Given the description of an element on the screen output the (x, y) to click on. 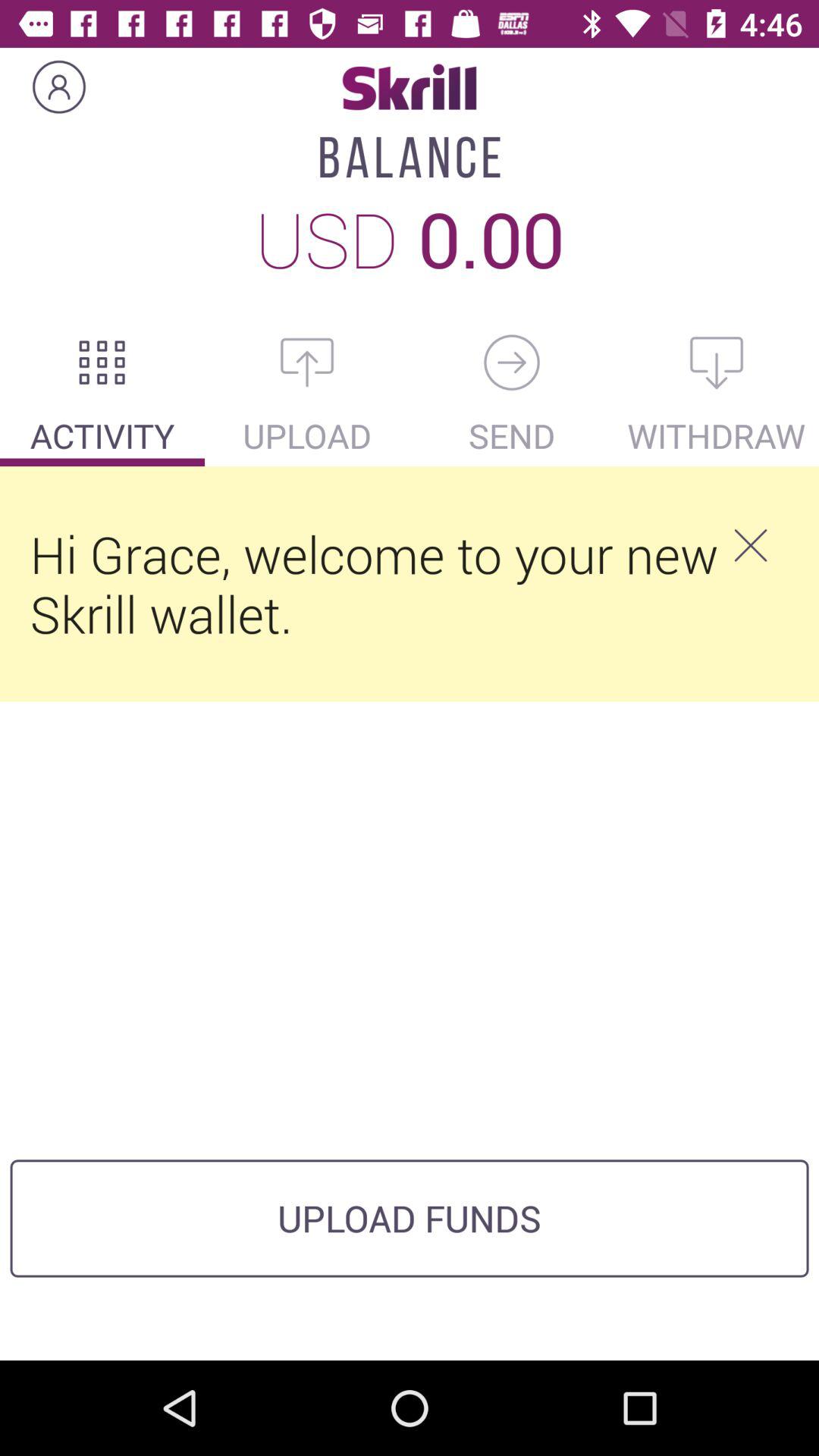
jump until the upload funds icon (409, 1218)
